Given the description of an element on the screen output the (x, y) to click on. 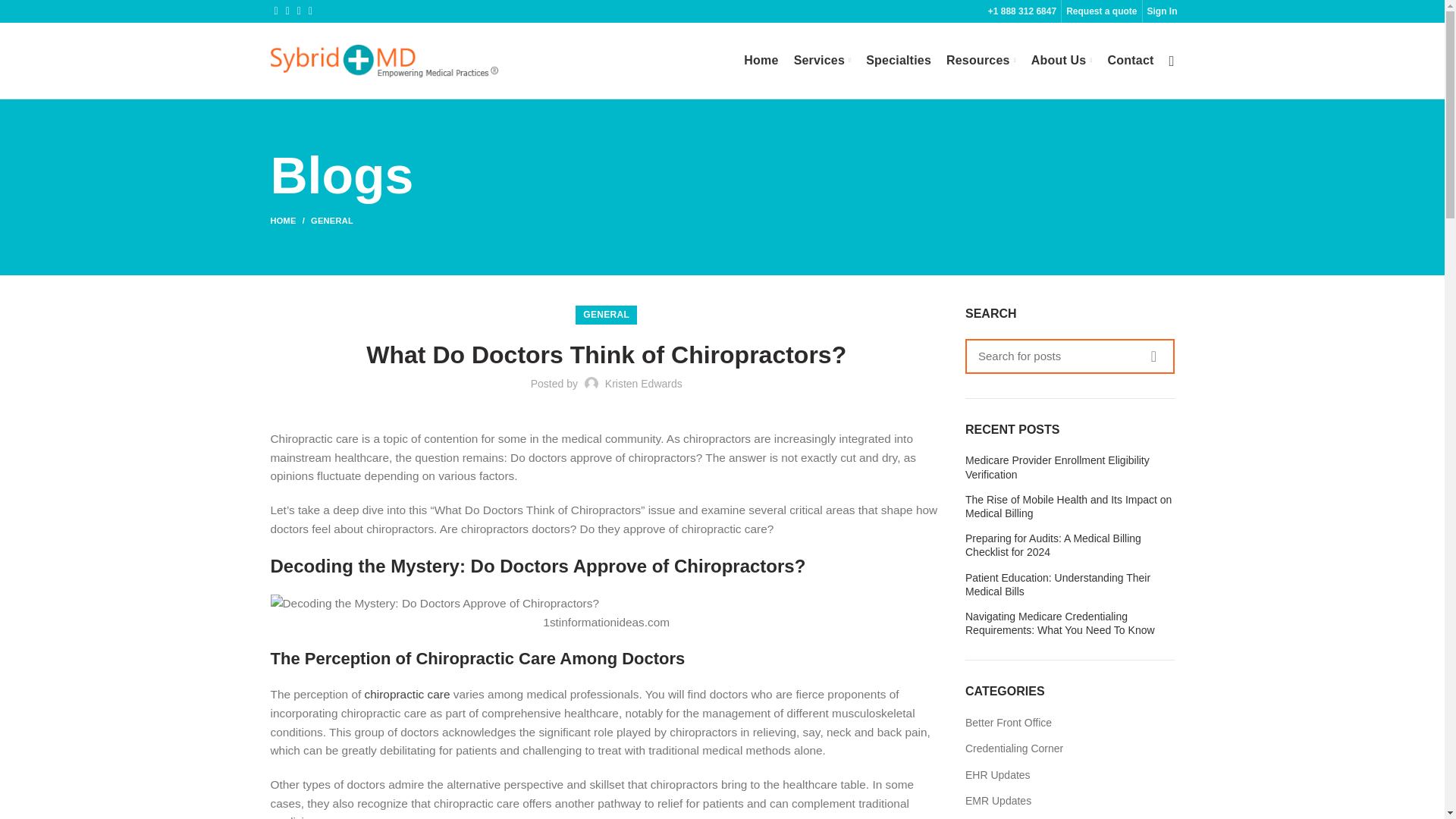
Home (761, 60)
Resources (981, 60)
Request a quote (1101, 10)
Sign In (1161, 10)
About Us (1061, 60)
Services (822, 60)
Specialties (899, 60)
Contact (1130, 60)
